Given the description of an element on the screen output the (x, y) to click on. 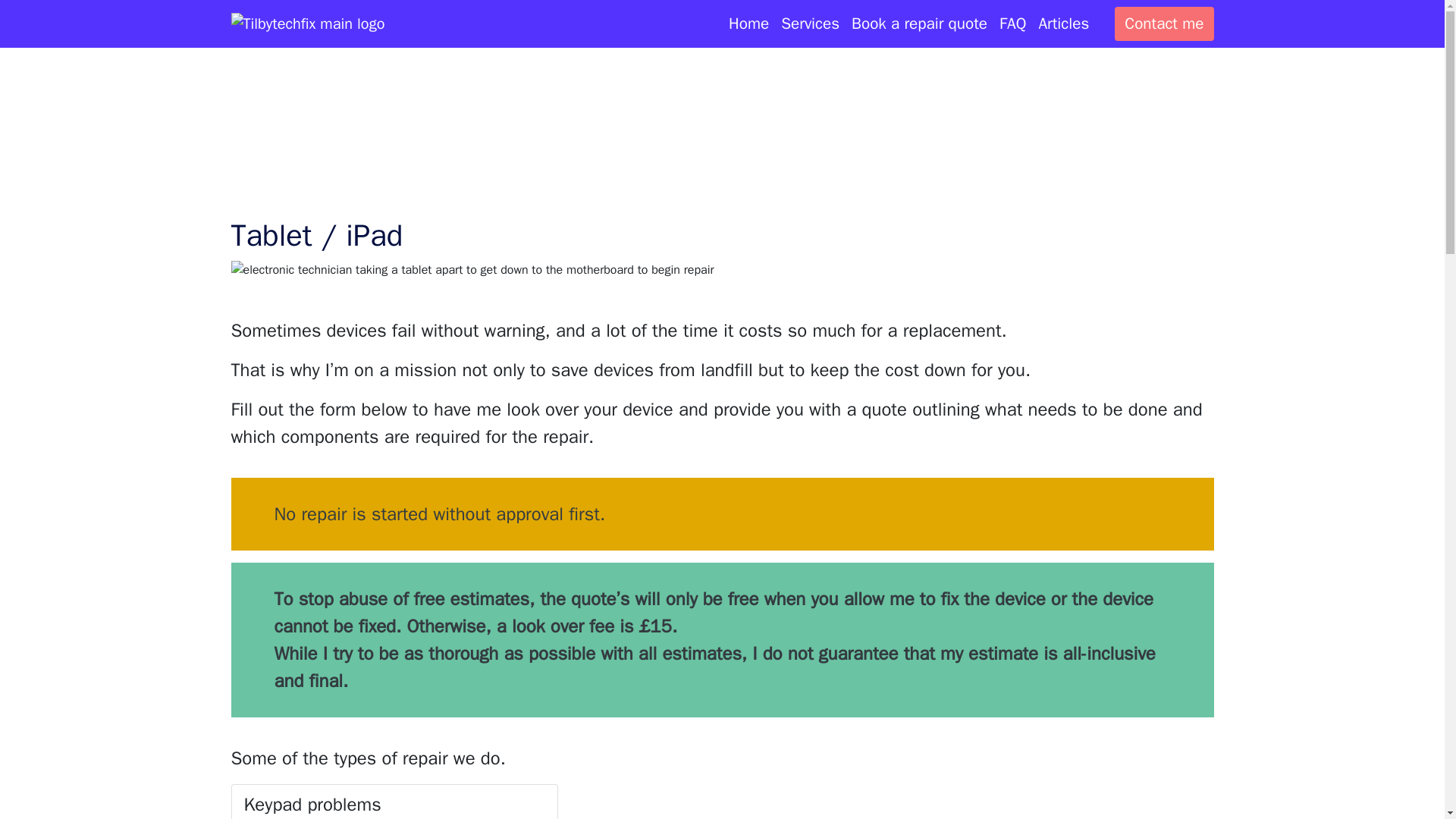
Book a repair quote (918, 23)
Contact me (1163, 23)
Contact page contains a form and information (1163, 23)
Home (748, 23)
FAQ (1012, 23)
FAQ (1012, 23)
Articles (1063, 23)
Book a repair quote (918, 23)
Home (748, 23)
Articles (1063, 23)
Services (809, 23)
Services (809, 23)
